Given the description of an element on the screen output the (x, y) to click on. 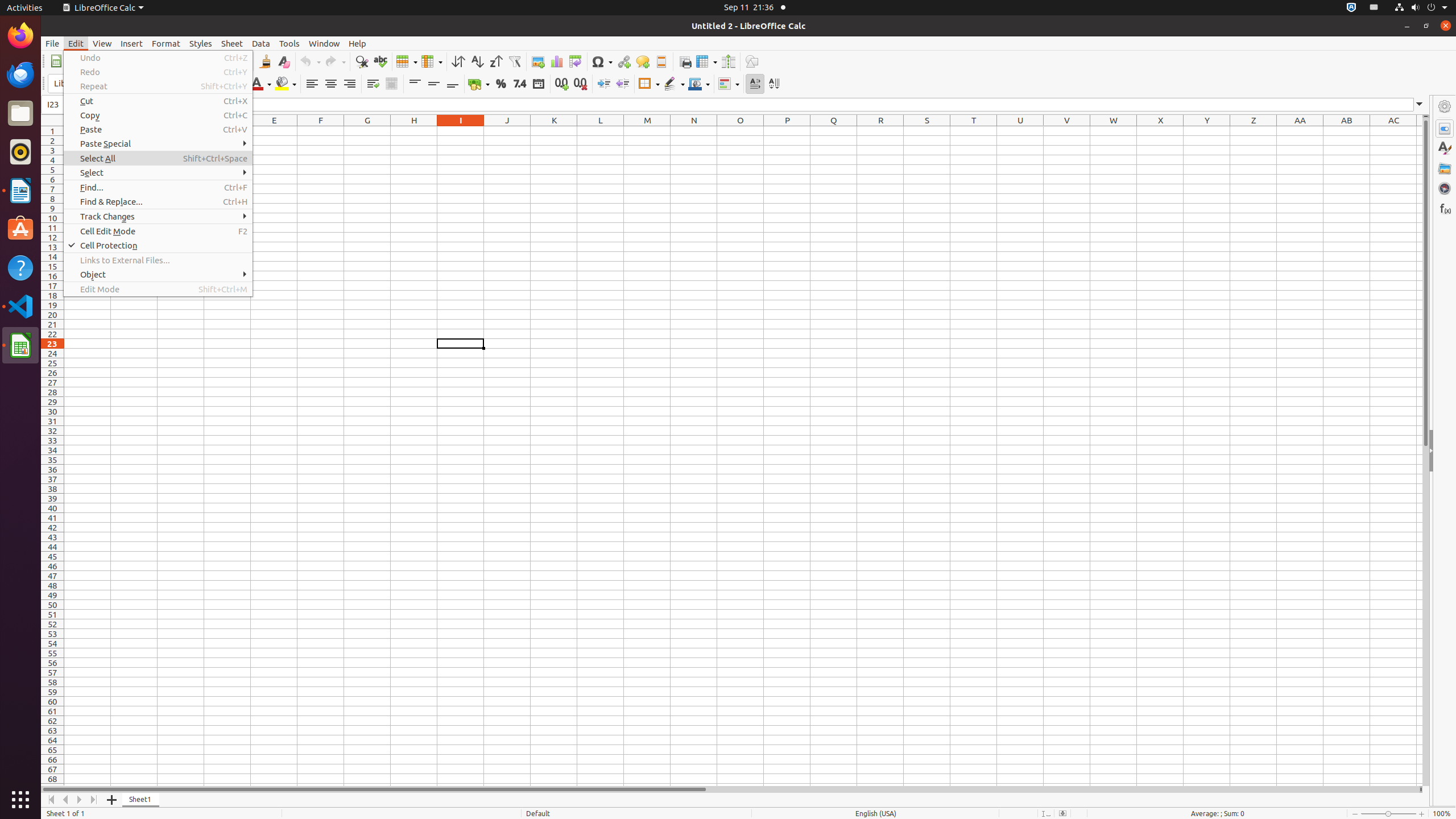
Move Right Element type: push-button (79, 799)
Object Element type: menu (157, 274)
Clear Element type: push-button (283, 61)
Wrap Text Element type: push-button (372, 83)
Repeat Element type: menu-item (157, 86)
